Given the description of an element on the screen output the (x, y) to click on. 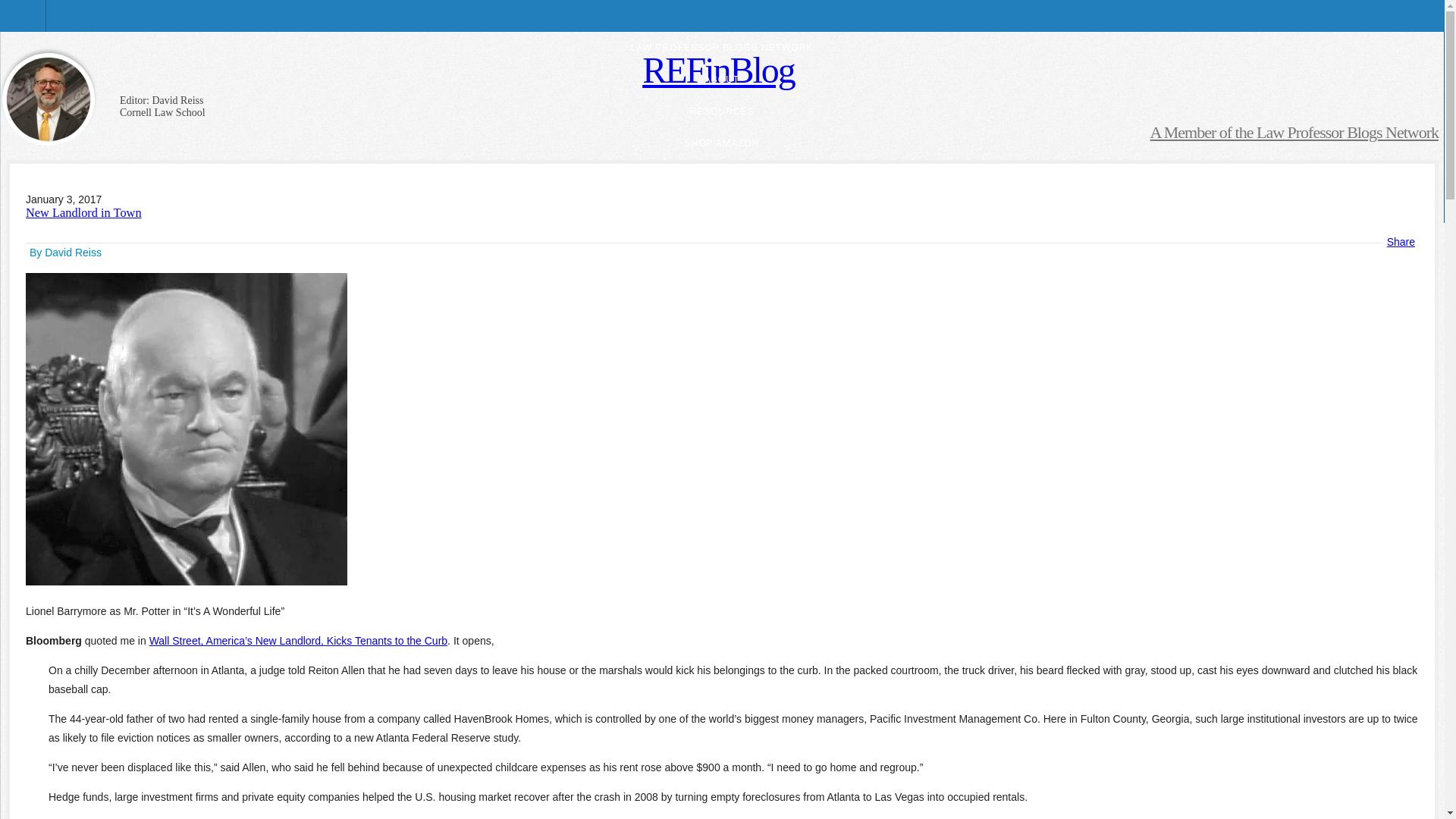
Network Information (112, 333)
Go! (182, 57)
Share (1401, 241)
REFinBlog (718, 69)
Go! (182, 242)
New Landlord in Town (83, 212)
Resources (112, 148)
RSS (112, 286)
Shop Amazon (112, 194)
About (112, 101)
